Given the description of an element on the screen output the (x, y) to click on. 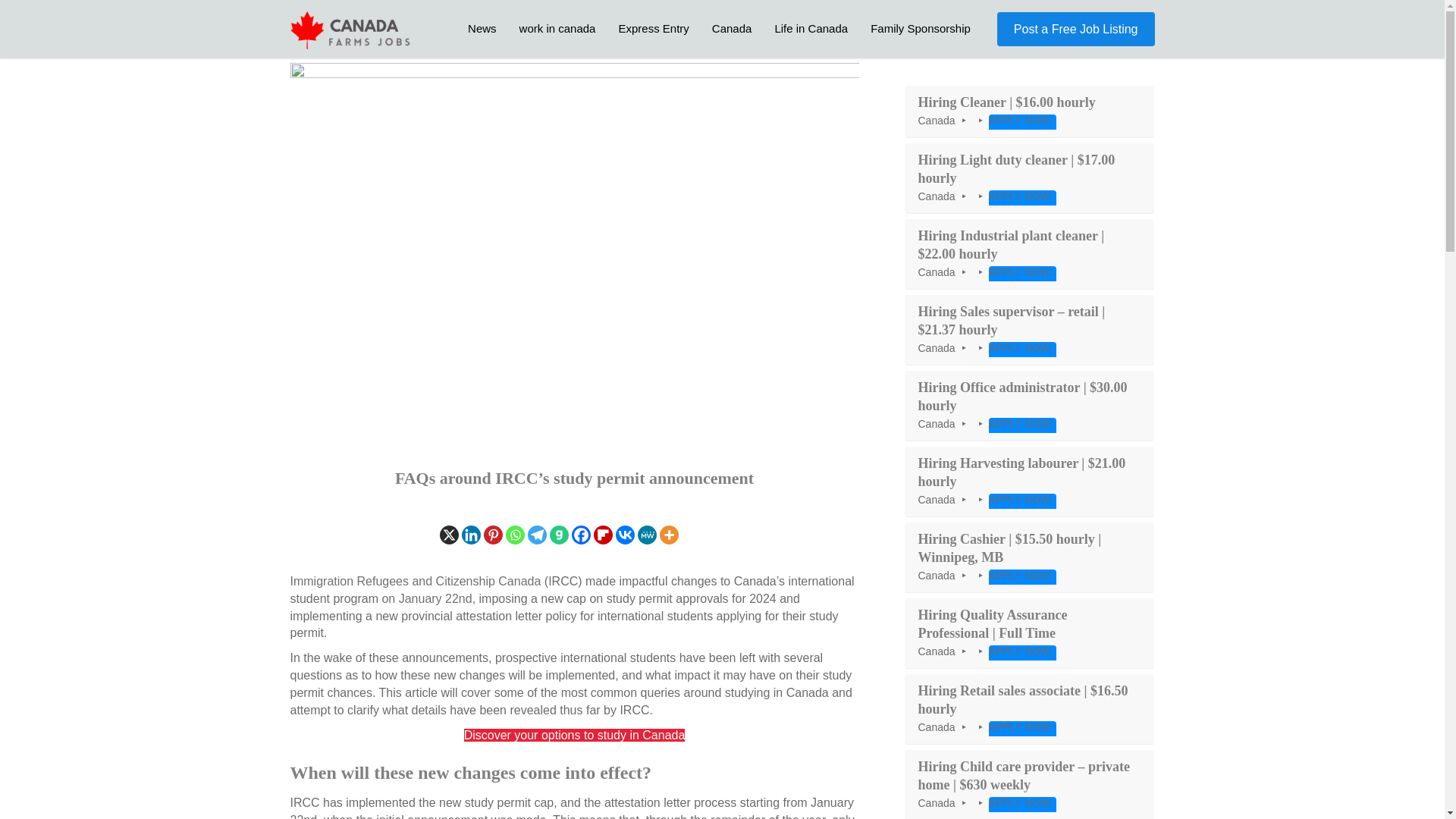
Canada (731, 28)
News (482, 28)
Life in Canada (810, 28)
Express Entry (653, 28)
Telegram (537, 534)
X (448, 534)
on January 22nd (426, 598)
Family Sponsorship (920, 28)
Linkedin (470, 534)
Express Entry (653, 28)
Immigration Refugees and Citizenship Canada (414, 581)
Post a Free Job Listing (1075, 28)
Facebook (581, 534)
Family Sponsorship (920, 28)
Pinterest (492, 534)
